Given the description of an element on the screen output the (x, y) to click on. 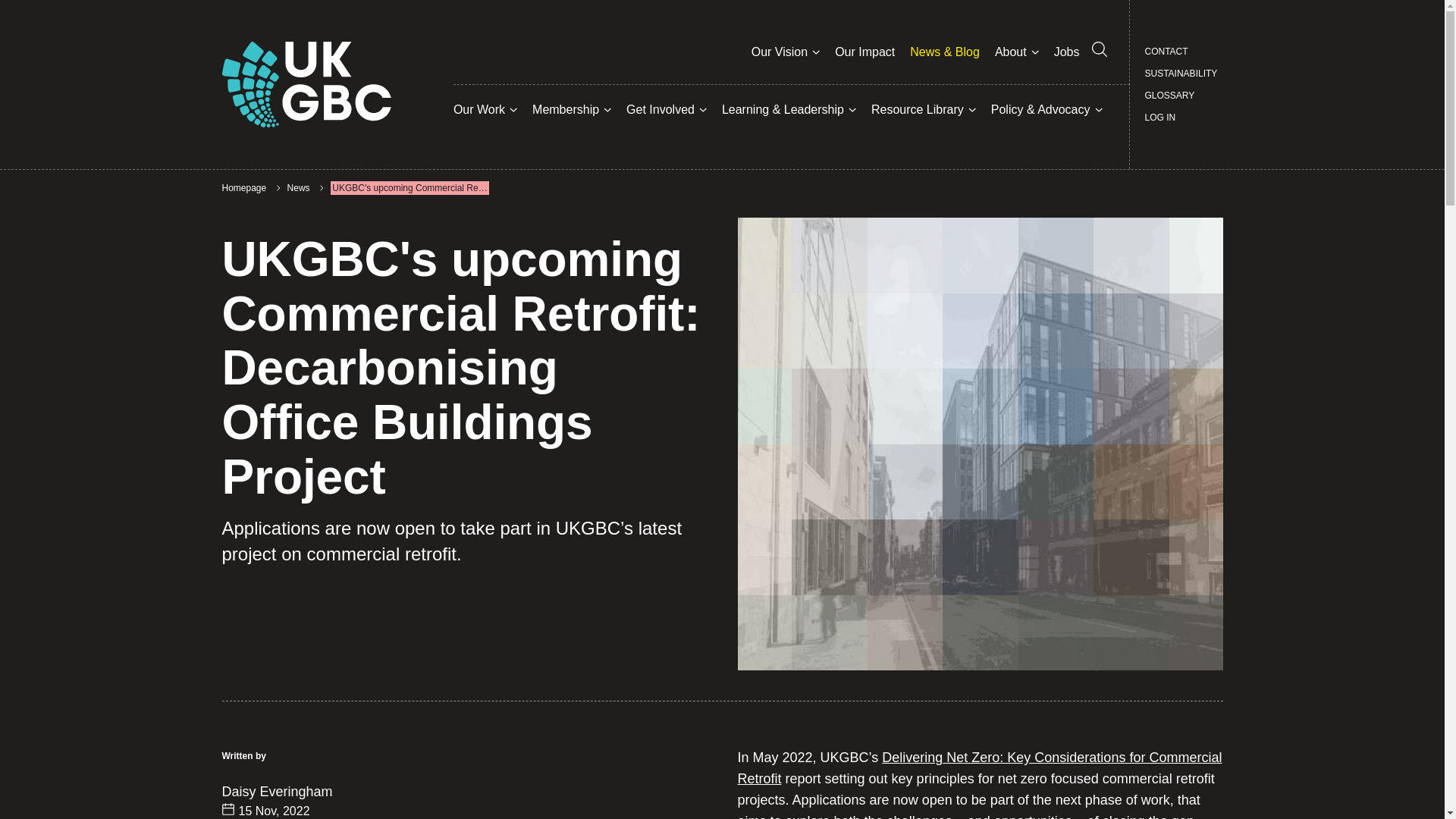
News (298, 187)
GLOSSARY (1169, 95)
Resource Library (916, 109)
Jobs (1067, 52)
CONTACT (1166, 51)
Our Work (478, 109)
Our Vision (779, 52)
Homepage (243, 187)
LOG IN (1160, 117)
